Given the description of an element on the screen output the (x, y) to click on. 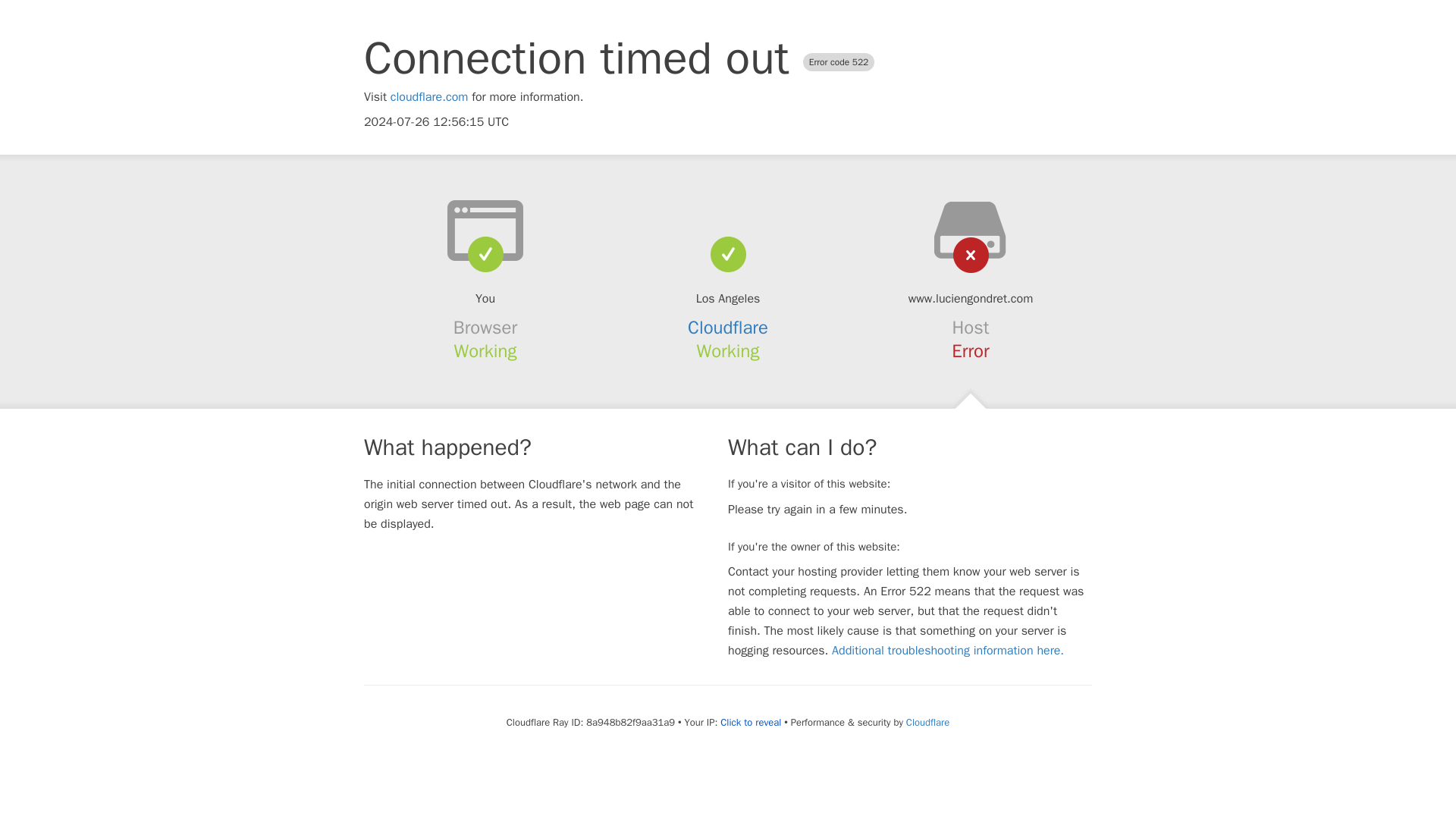
Additional troubleshooting information here. (947, 650)
Cloudflare (927, 721)
Cloudflare (727, 327)
cloudflare.com (429, 96)
Click to reveal (750, 722)
